Given the description of an element on the screen output the (x, y) to click on. 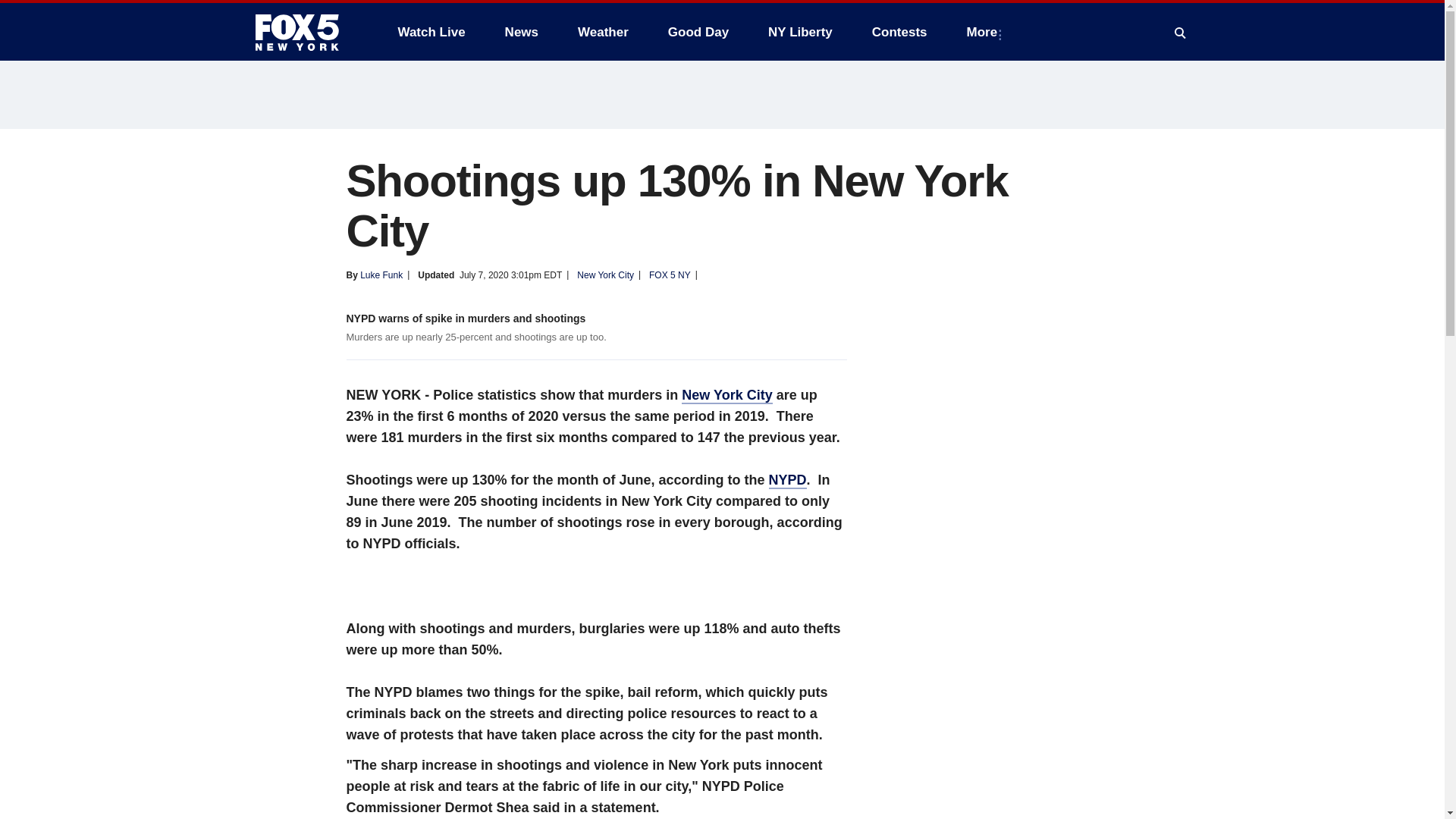
NY Liberty (799, 32)
News (521, 32)
More (985, 32)
Weather (603, 32)
Good Day (698, 32)
Contests (899, 32)
Watch Live (431, 32)
